Given the description of an element on the screen output the (x, y) to click on. 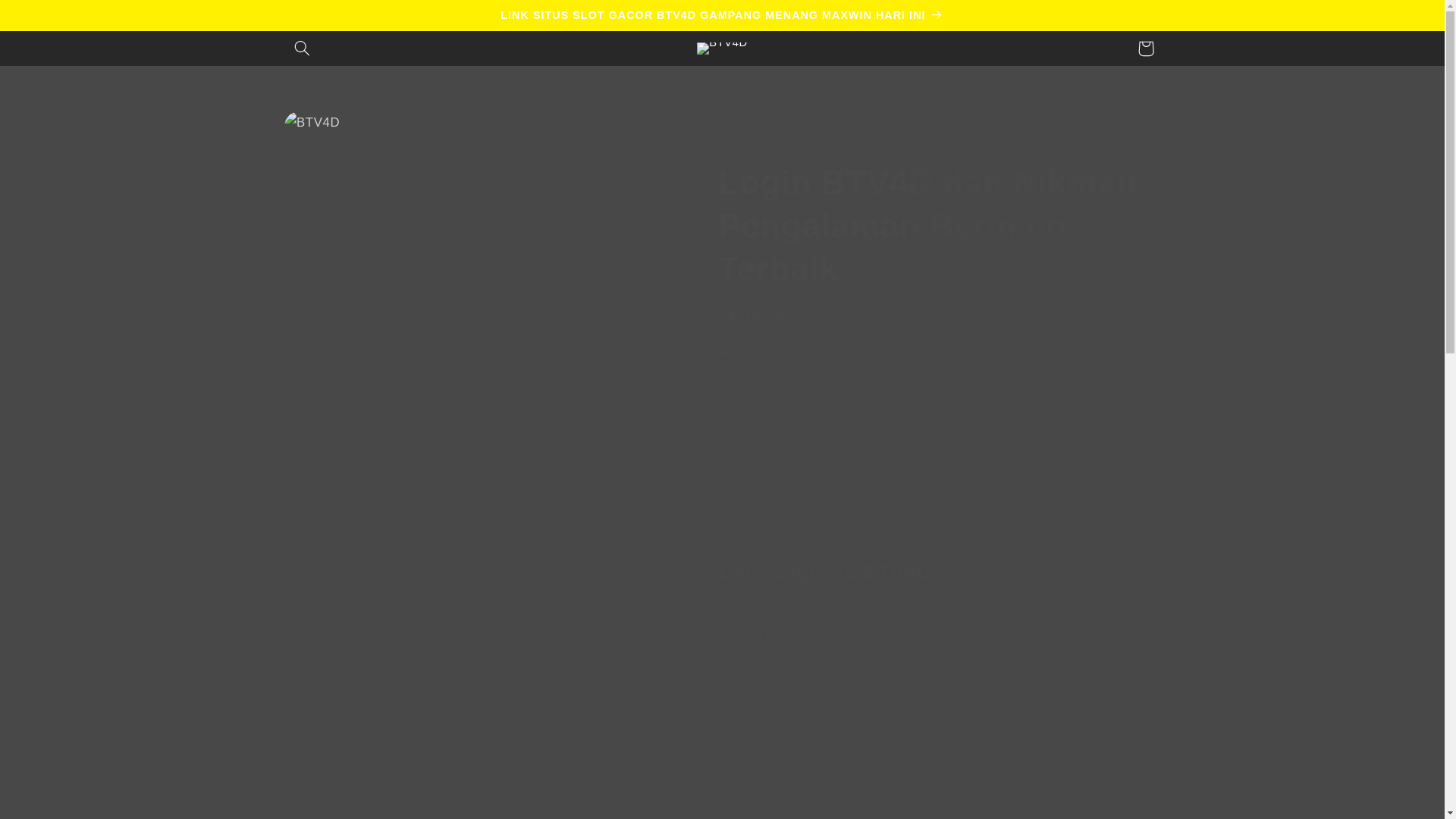
Skip to product information (331, 129)
Open media 1 in modal (480, 259)
Cart (1145, 48)
LINK SITUS SLOT GACOR BTV4D GAMPANG MENANG MAXWIN HARI INI (721, 15)
Skip to content (48, 18)
BTV4D (745, 358)
